Given the description of an element on the screen output the (x, y) to click on. 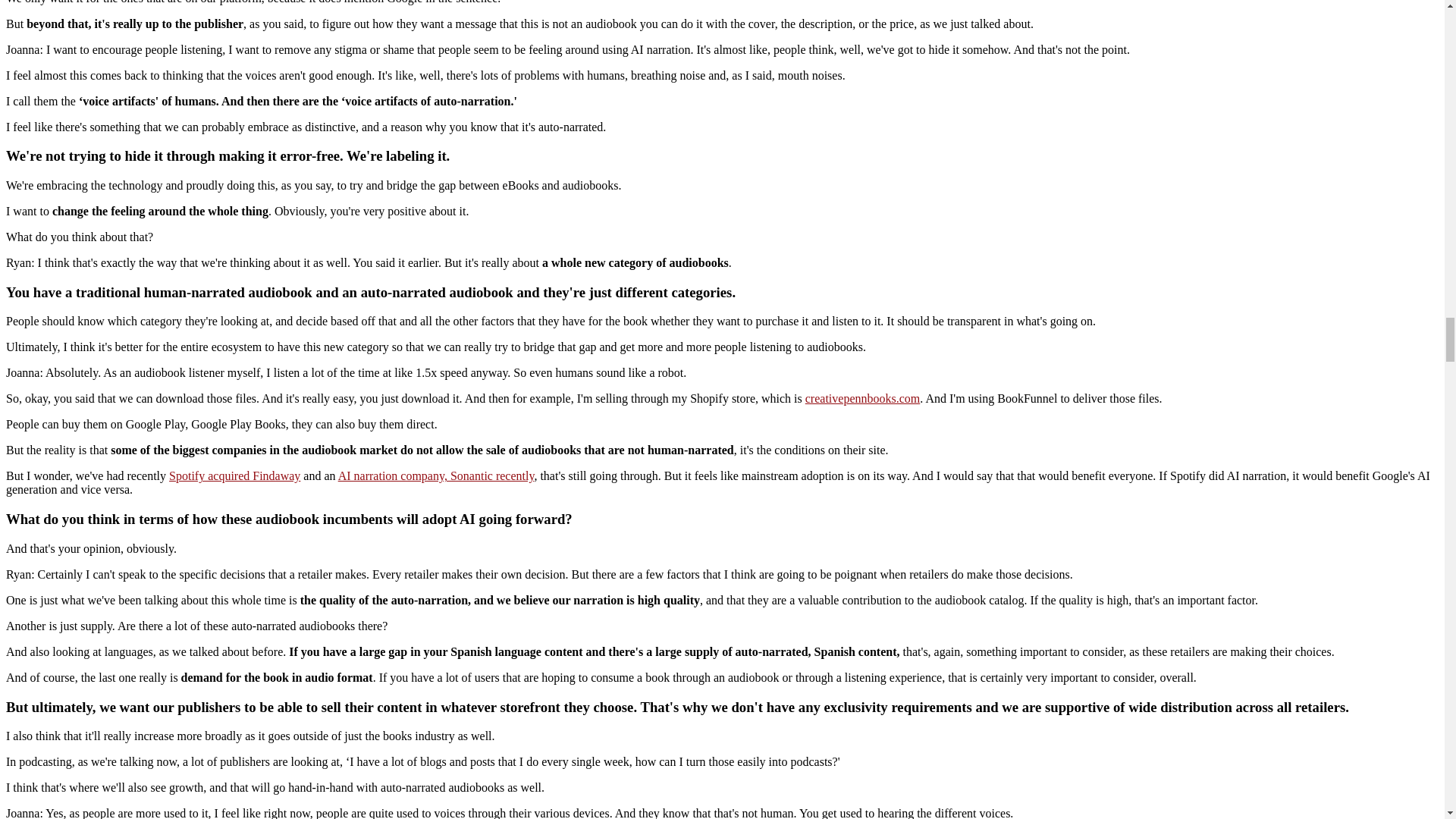
creativepennbooks.com (862, 398)
